Given the description of an element on the screen output the (x, y) to click on. 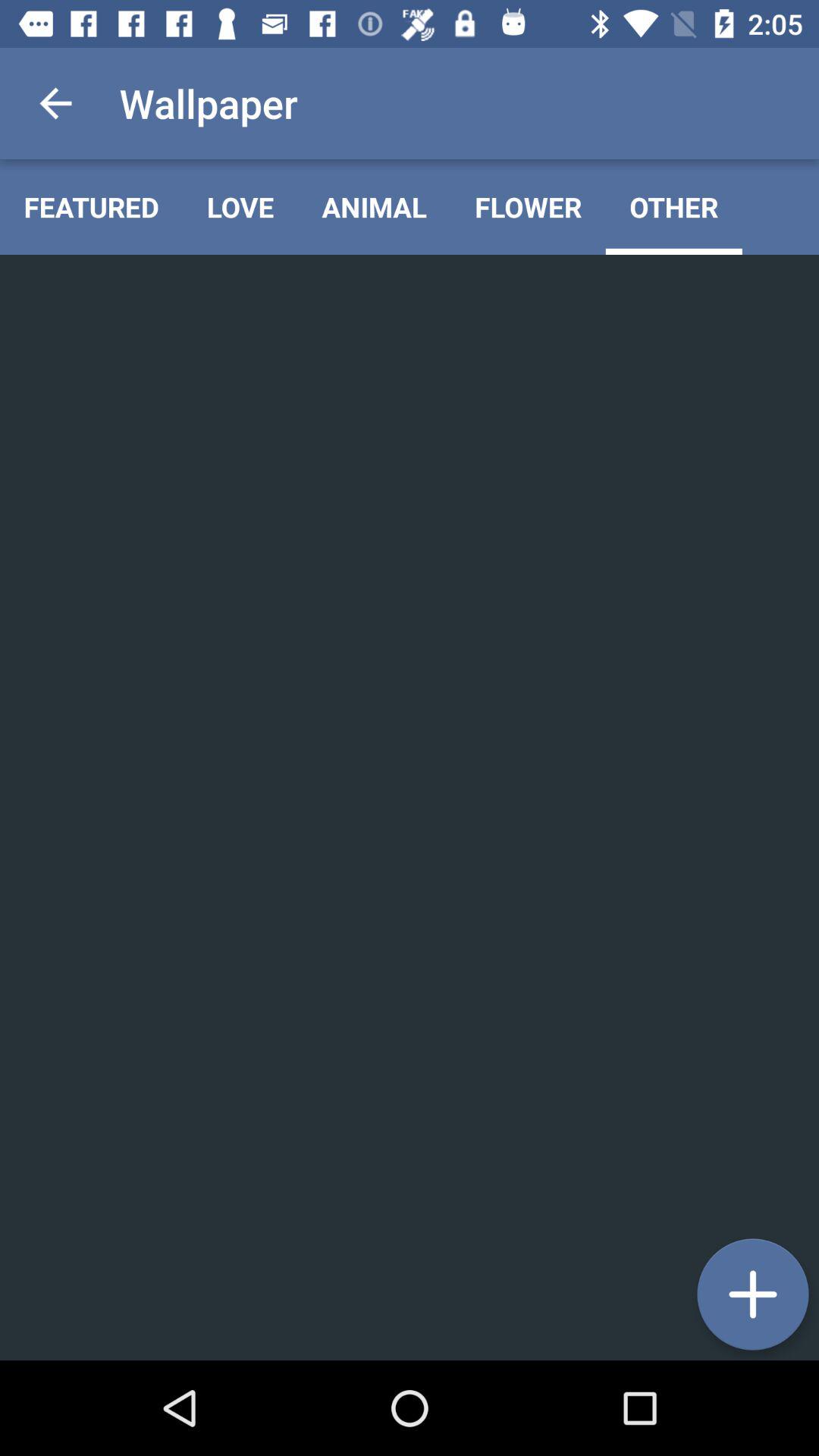
press the icon above featured (55, 103)
